Given the description of an element on the screen output the (x, y) to click on. 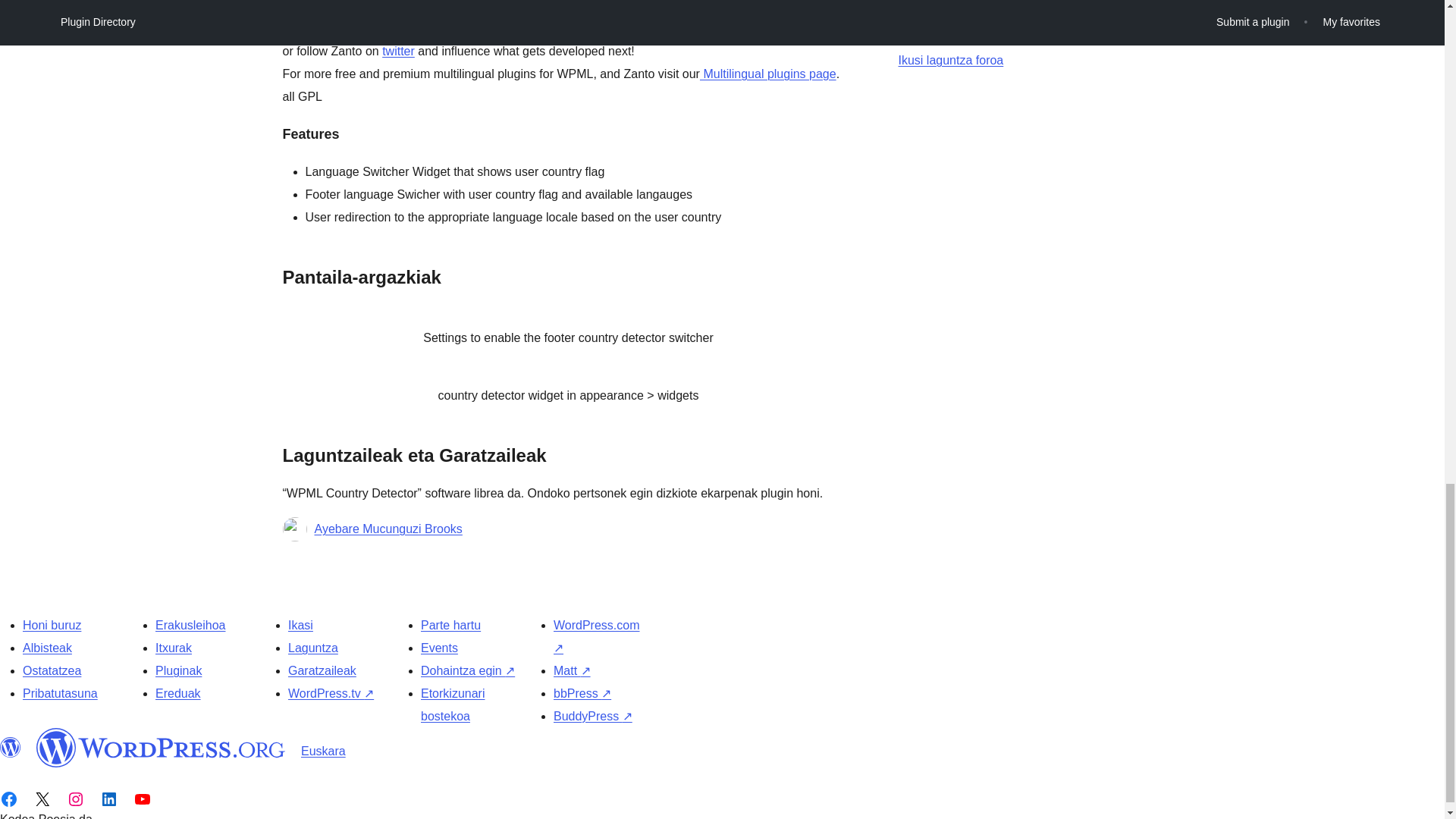
Erakusleihoa (190, 625)
Ikusi laguntza foroa (950, 60)
Ostatatzea (52, 670)
Honi buruz (52, 625)
WordPress.org (10, 747)
Pribatutasuna (60, 693)
wordpress multilingual plugins (767, 73)
Albisteak (47, 647)
Pluginak (178, 670)
WordPress translation, Internationalization and localization (427, 28)
Multilingual plugins page (767, 73)
Itxurak (173, 647)
Zanto (427, 28)
multilingual plugin developement (397, 51)
twitter (397, 51)
